Given the description of an element on the screen output the (x, y) to click on. 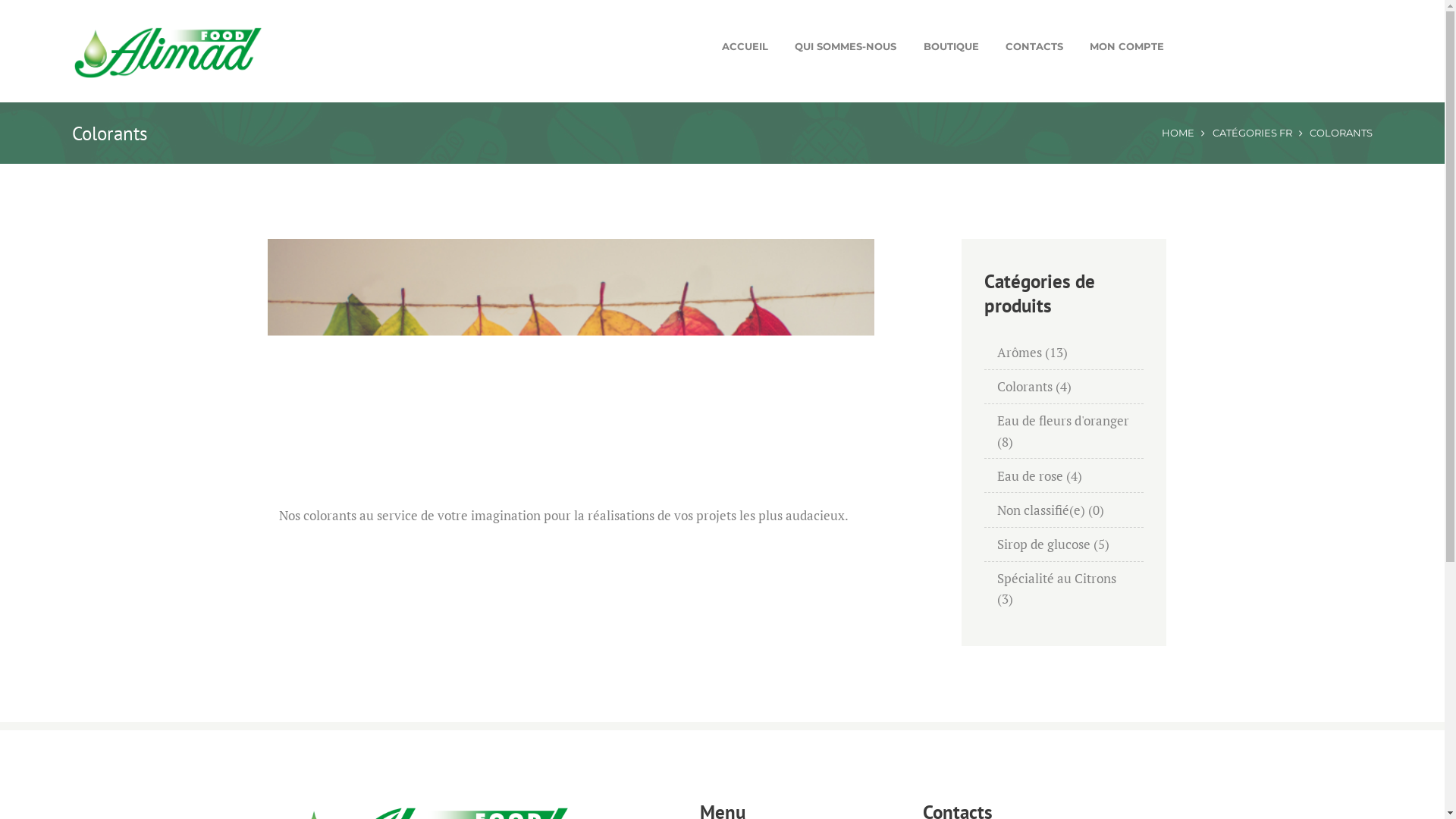
QUI SOMMES-NOUS Element type: text (845, 46)
BOUTIQUE Element type: text (950, 46)
CONTACTS Element type: text (1033, 46)
ACCUEIL Element type: text (745, 46)
HOME Element type: text (1177, 133)
Eau de fleurs d'oranger Element type: text (1062, 420)
Colorants Element type: text (1023, 386)
MON COMPTE Element type: text (1126, 46)
Sirop de glucose Element type: text (1042, 543)
Eau de rose Element type: text (1029, 475)
